Given the description of an element on the screen output the (x, y) to click on. 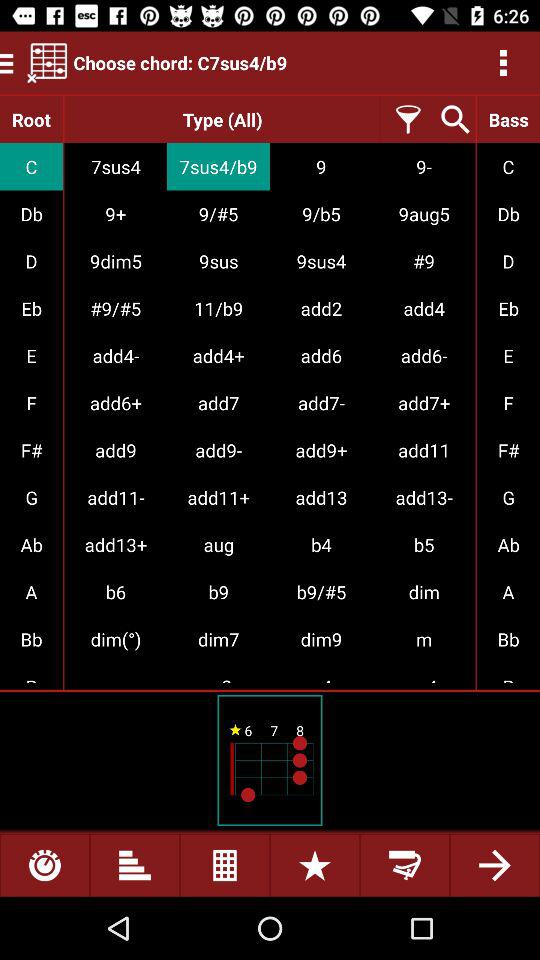
the option point search something (451, 119)
